Given the description of an element on the screen output the (x, y) to click on. 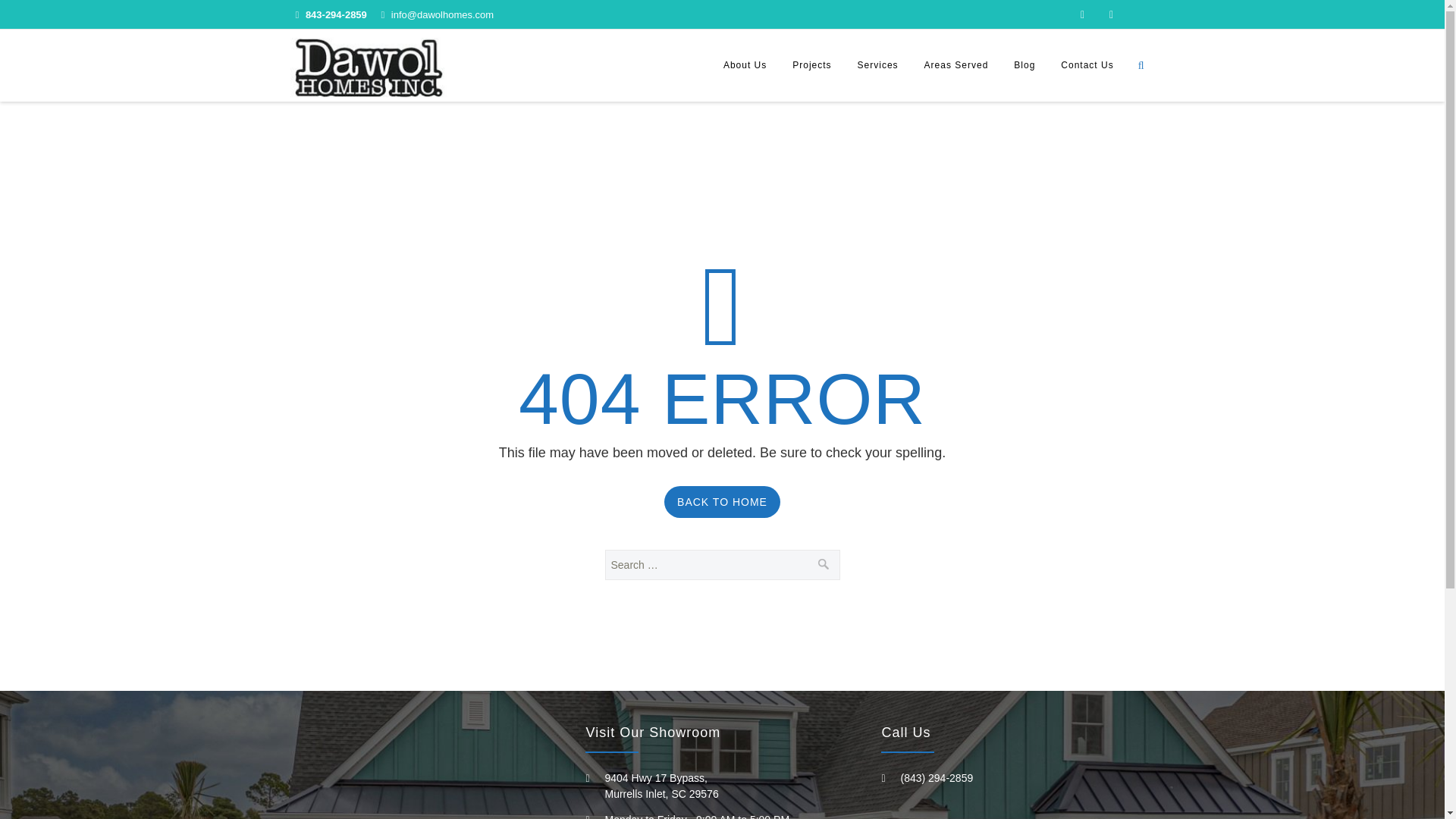
Houzz (1139, 14)
Back to Home (721, 501)
LinkedIn (1110, 14)
Dawol Homes (367, 65)
843-294-2859 (335, 14)
Projects (811, 65)
Areas Served (956, 65)
Search (822, 561)
Services (877, 65)
